Given the description of an element on the screen output the (x, y) to click on. 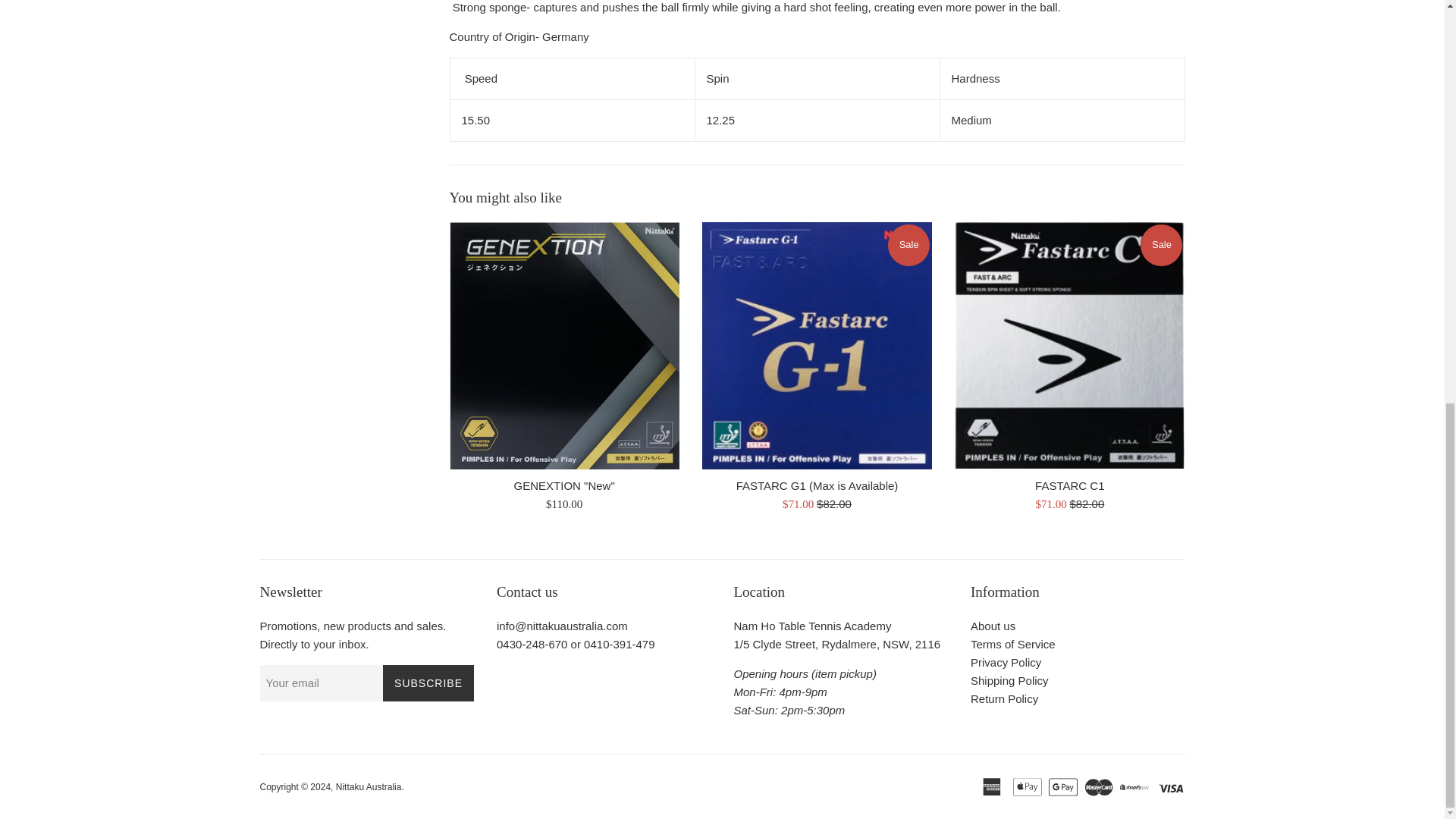
GENEXTION "New" (563, 345)
FASTARC C1 (1070, 345)
